Given the description of an element on the screen output the (x, y) to click on. 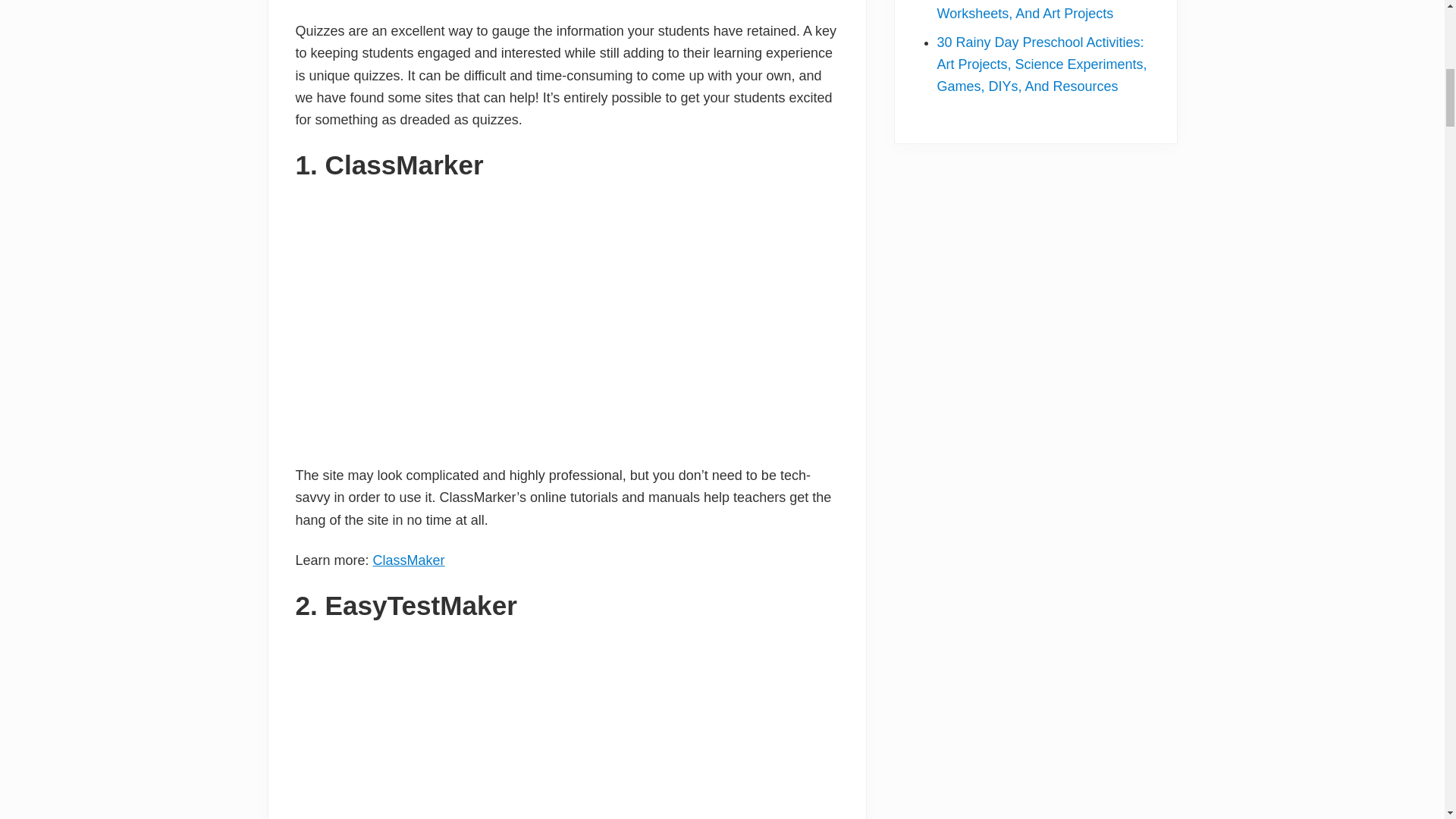
ClassMaker (408, 560)
StudentTeacher.jpg (561, 724)
